Given the description of an element on the screen output the (x, y) to click on. 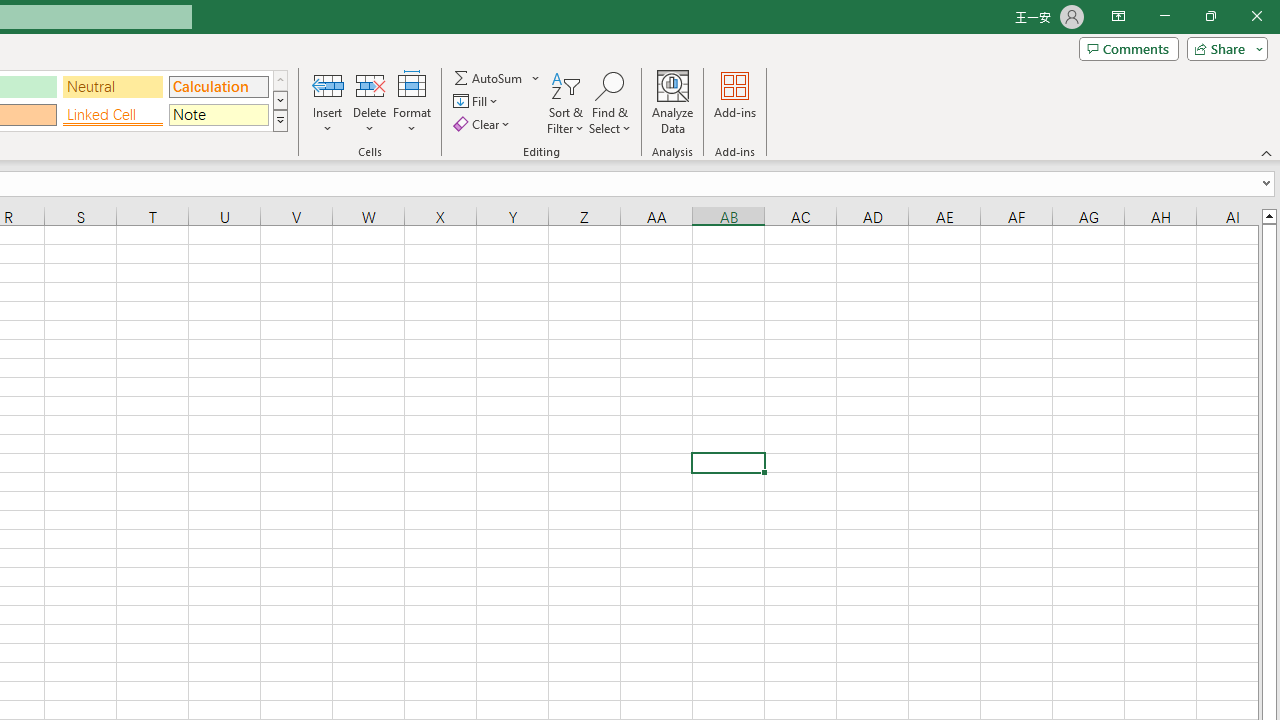
Insert (328, 102)
